Given the description of an element on the screen output the (x, y) to click on. 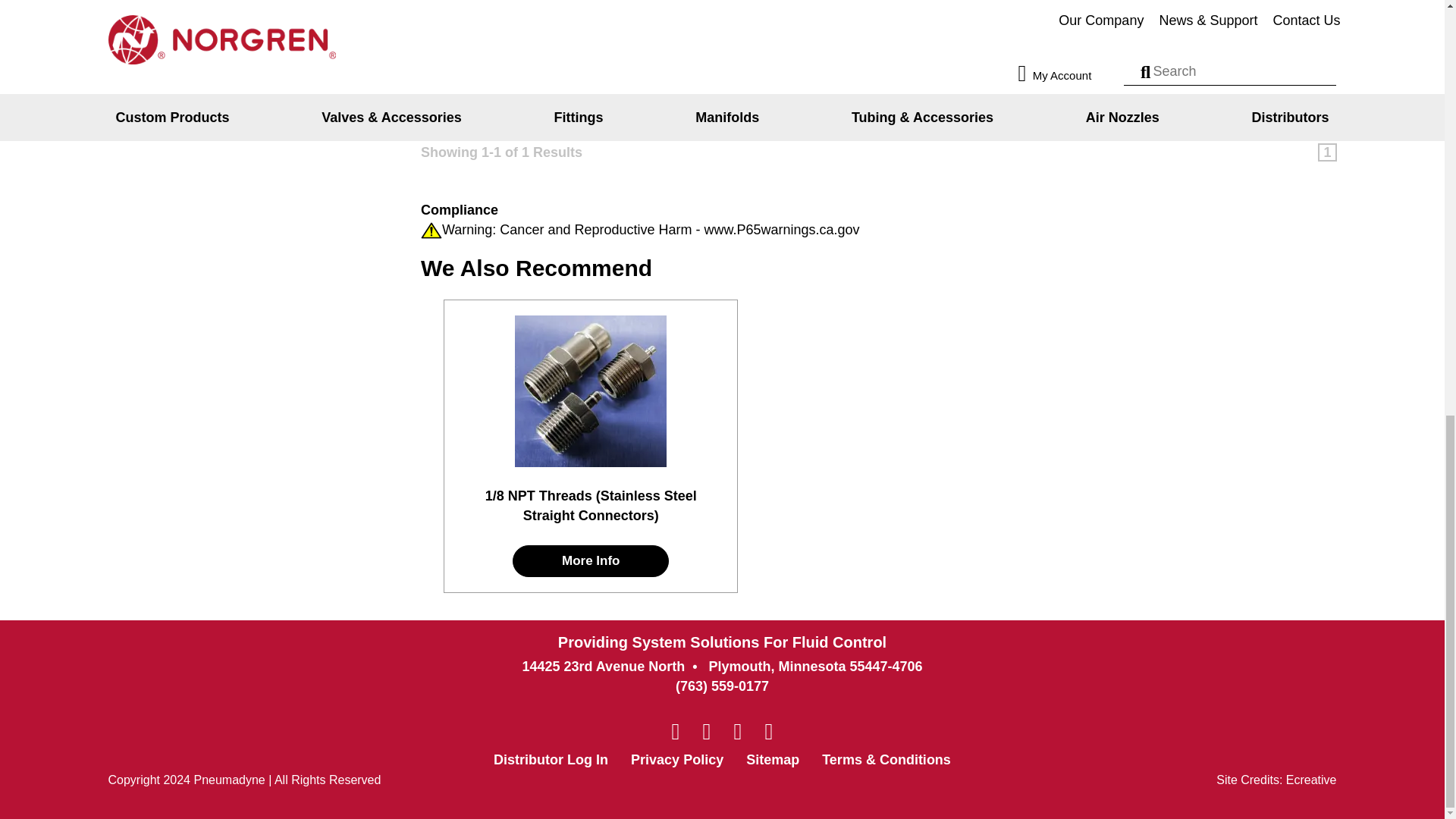
0 (1314, 23)
